Given the description of an element on the screen output the (x, y) to click on. 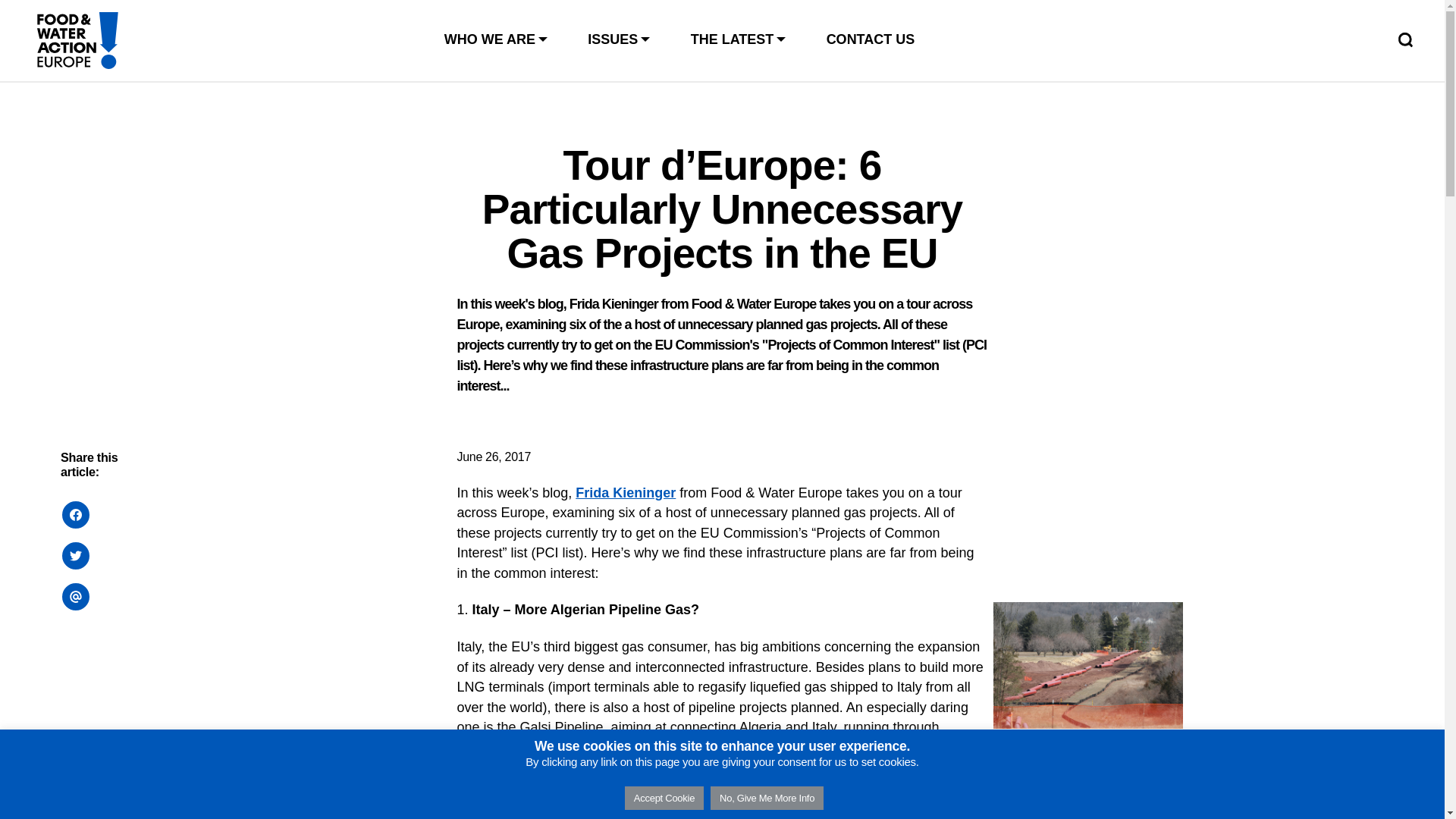
WHO WE ARE (497, 39)
CONTACT US (871, 39)
THE LATEST (739, 39)
Issues (620, 39)
ISSUES (620, 39)
Who We Are (497, 39)
The Latest (739, 39)
